Given the description of an element on the screen output the (x, y) to click on. 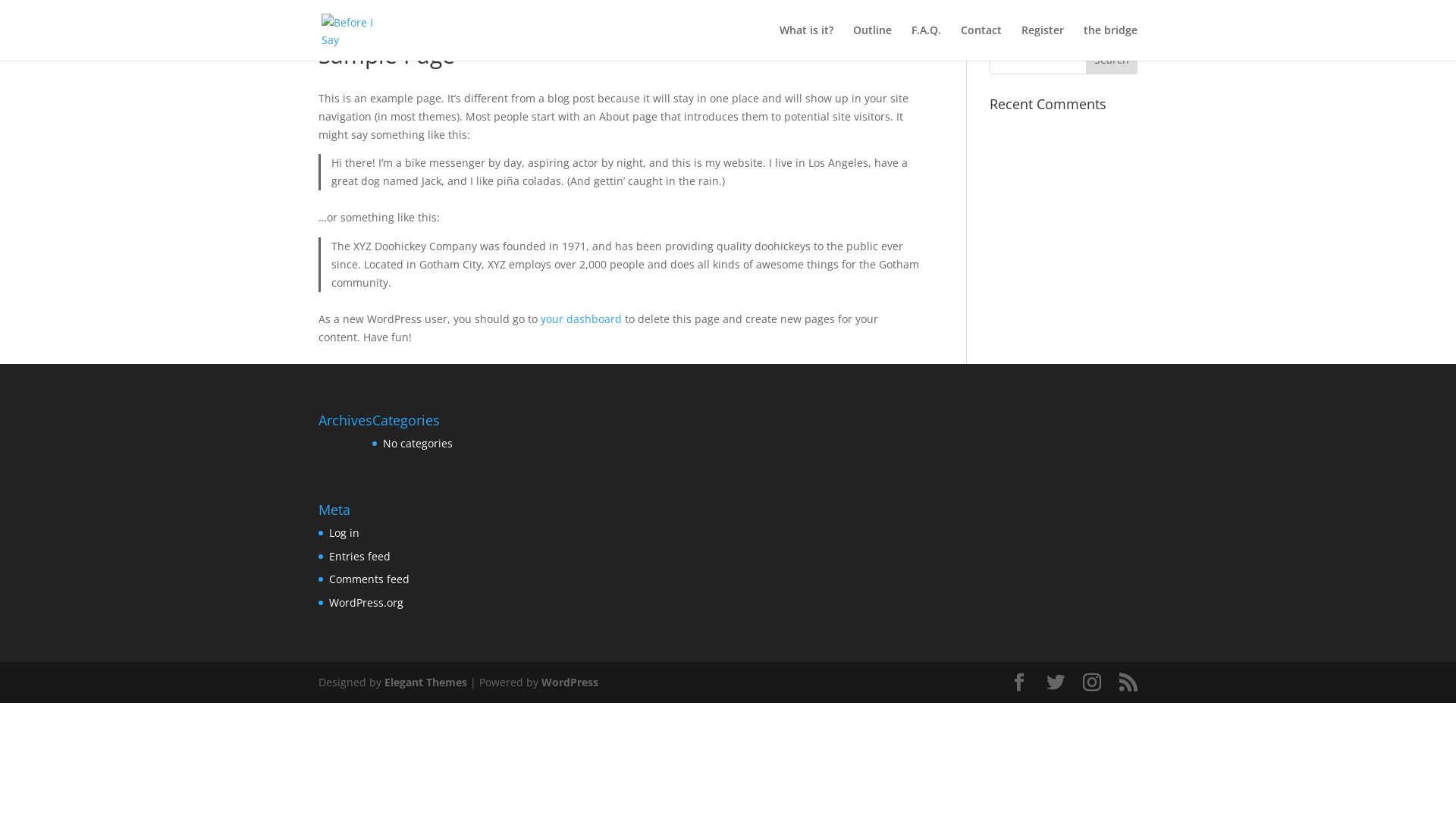
What is it? Element type: text (806, 42)
WordPress Element type: text (569, 681)
the bridge Element type: text (1110, 42)
Log in Element type: text (344, 532)
WordPress.org Element type: text (366, 602)
Comments feed Element type: text (369, 578)
Elegant Themes Element type: text (425, 681)
Search Element type: text (1111, 58)
Contact Element type: text (980, 42)
your dashboard Element type: text (580, 318)
Register Element type: text (1042, 42)
F.A.Q. Element type: text (926, 42)
Entries feed Element type: text (359, 556)
Outline Element type: text (872, 42)
